Given the description of an element on the screen output the (x, y) to click on. 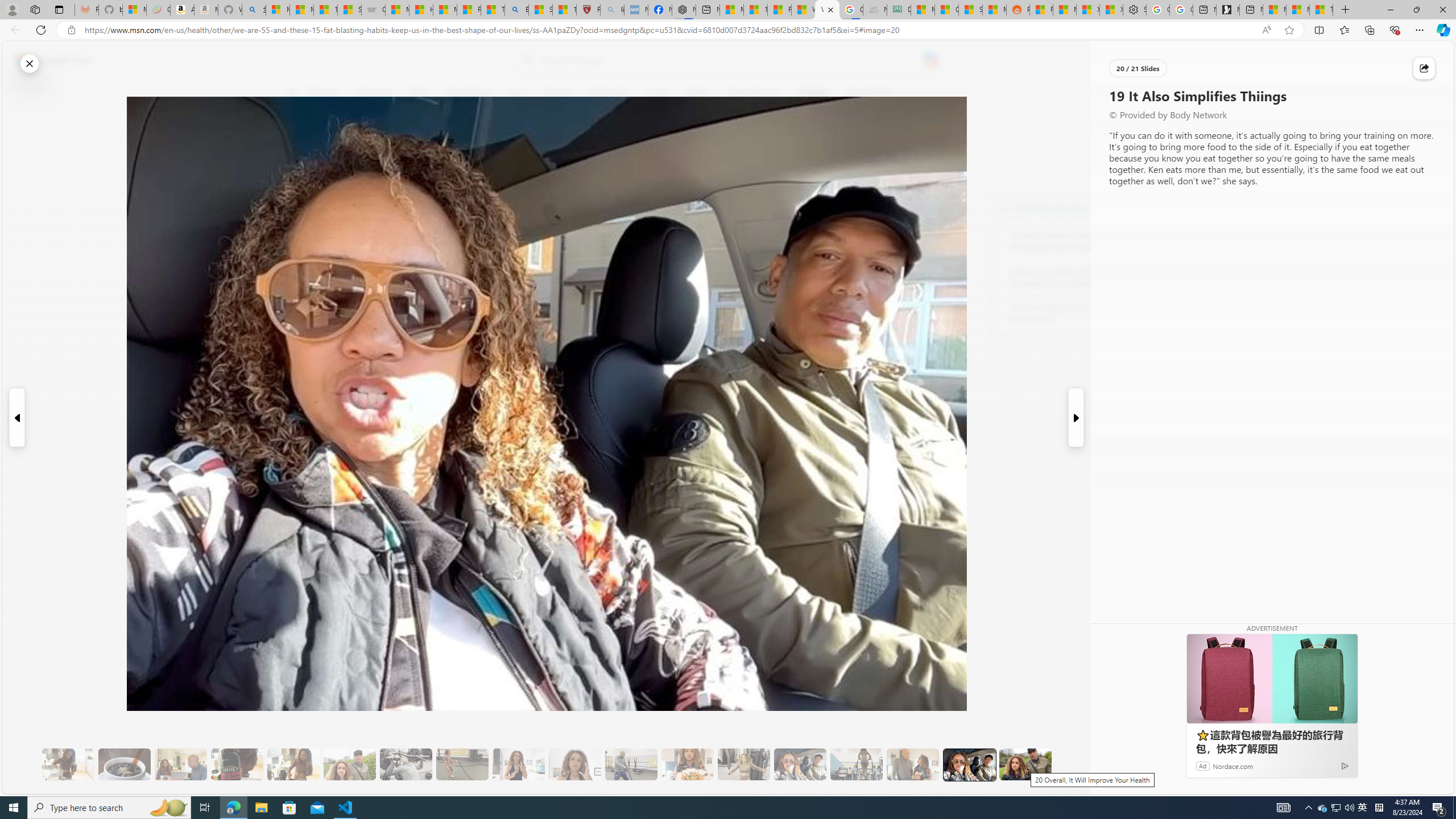
14 Common Myths Debunked By Scientific Facts (754, 9)
20 Overall, It Will Improve Your Health (1024, 764)
Body Network (449, 147)
Share this story (1423, 67)
Skip to content (49, 59)
6 Since Eating More Protein Her Training Has Improved (237, 764)
Nordace.com (1232, 765)
News (419, 92)
Bing (515, 9)
Crime (657, 92)
16 The Couple's Program Helps with Accountability (800, 764)
